Given the description of an element on the screen output the (x, y) to click on. 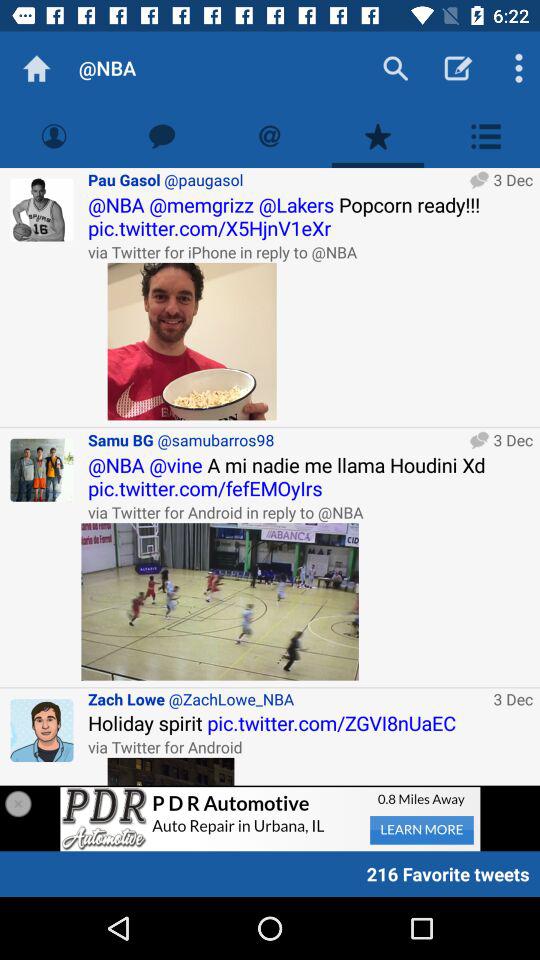
profile option menu (486, 136)
